Given the description of an element on the screen output the (x, y) to click on. 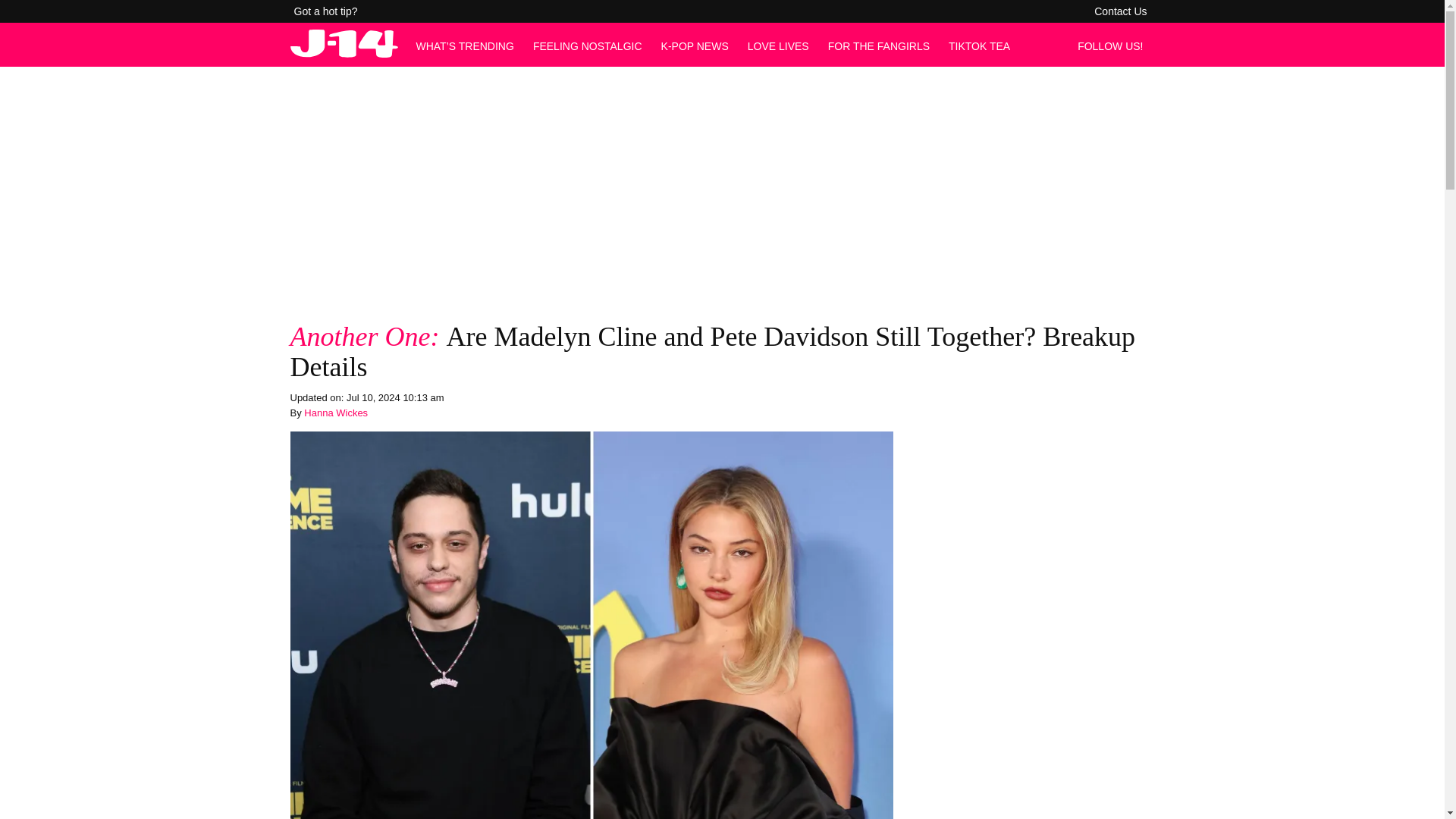
Posts by Hanna Wickes (336, 412)
LOVE LIVES (778, 46)
TIKTOK TEA (979, 46)
FEELING NOSTALGIC (587, 46)
Got a hot tip? (325, 11)
Hanna Wickes (336, 412)
K-POP NEWS (695, 46)
FOR THE FANGIRLS (879, 46)
Contact Us (1120, 11)
Home (343, 52)
FOLLOW US! (1114, 45)
